Given the description of an element on the screen output the (x, y) to click on. 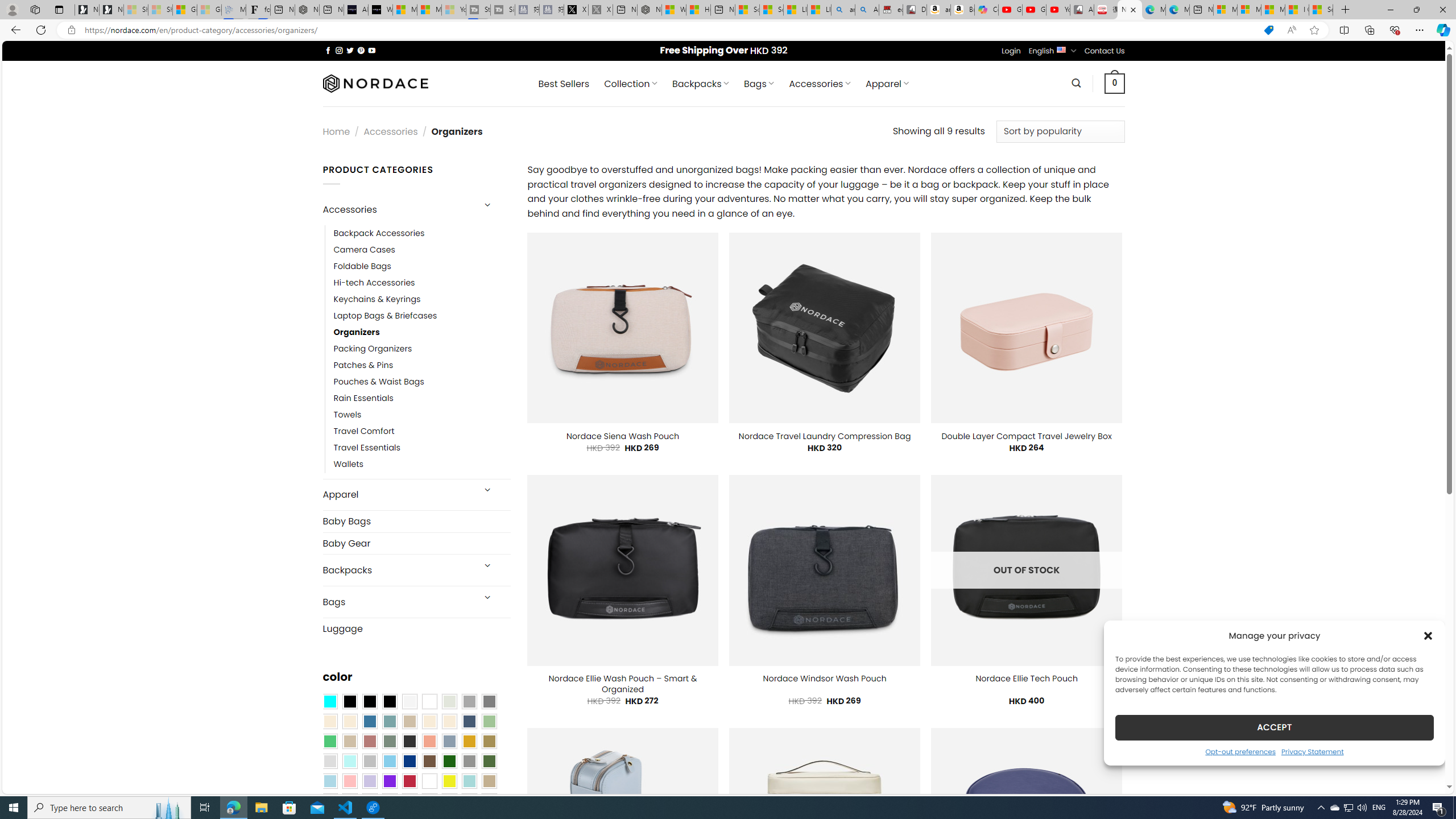
Shop order (1060, 131)
Nordace (374, 83)
Silver (369, 761)
Baby Bags (416, 521)
Yellow (449, 780)
Close (1442, 9)
Settings and more (Alt+F) (1419, 29)
Foldable Bags (362, 265)
Ash Gray (449, 701)
Light Green (488, 721)
What's the best AI voice generator? - voice.ai (380, 9)
